Given the description of an element on the screen output the (x, y) to click on. 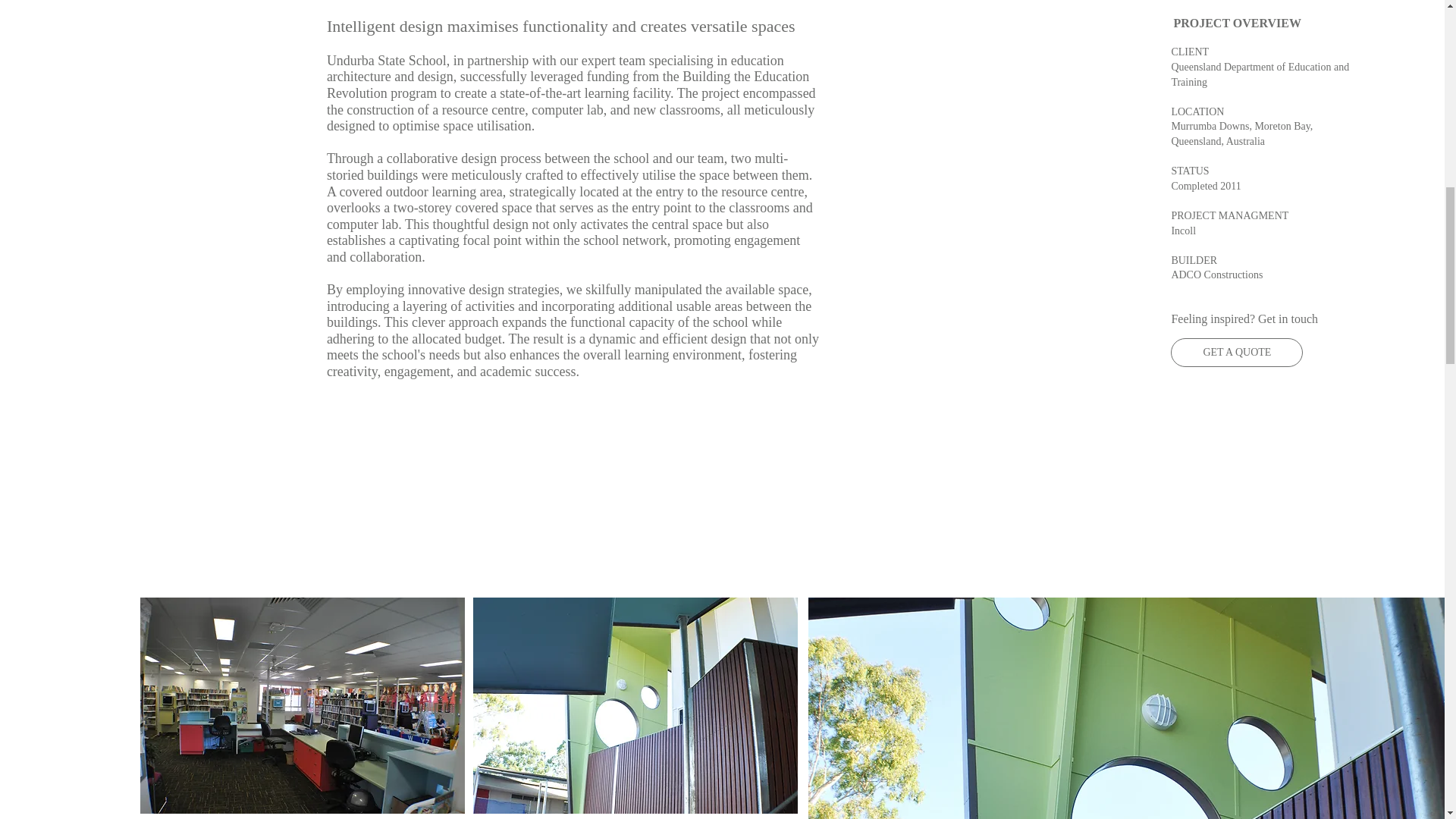
BACK TO PROJECTS (400, 2)
GET A QUOTE (1236, 352)
